Given the description of an element on the screen output the (x, y) to click on. 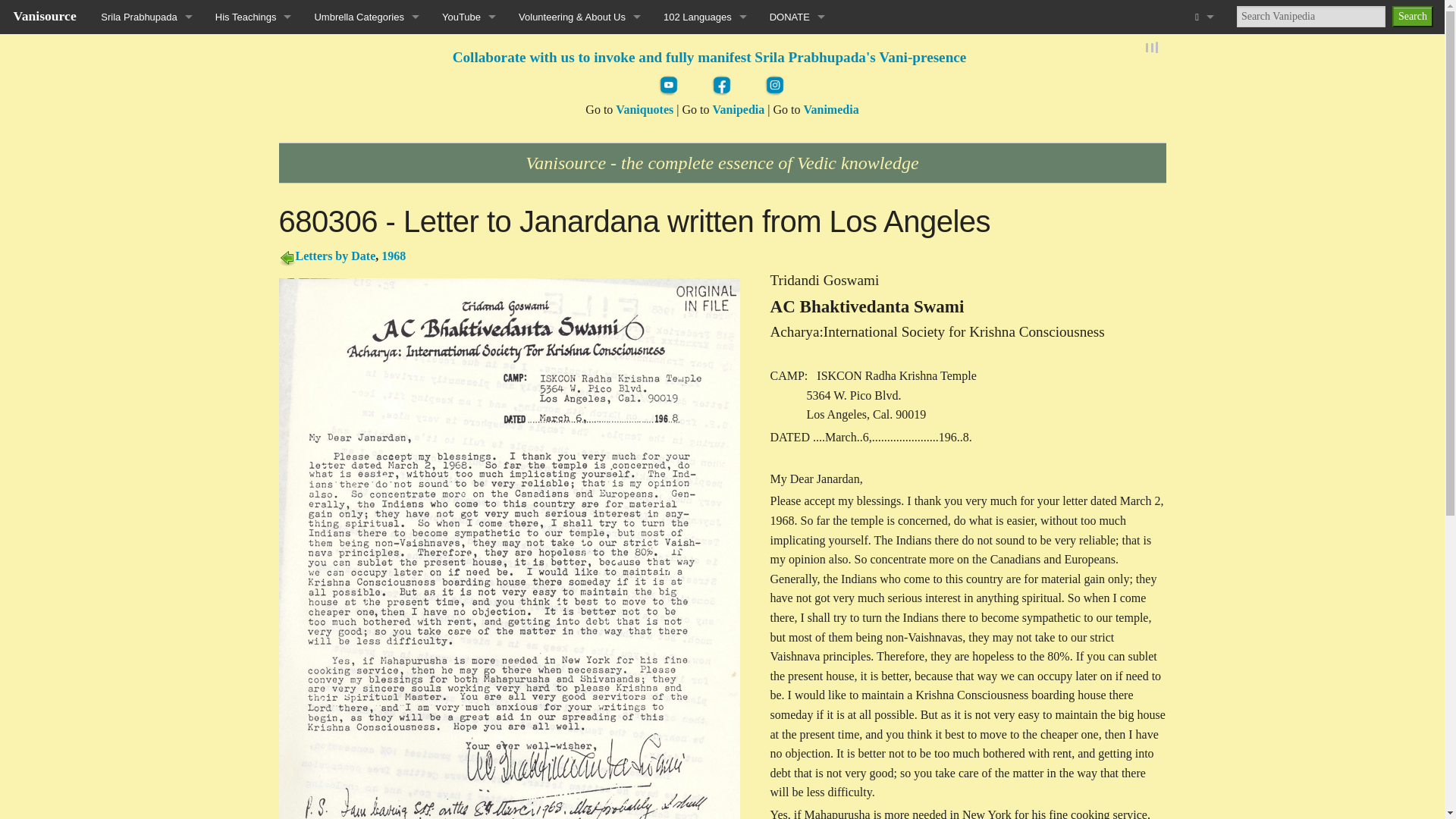
vanipedia:Main Page (737, 109)
Category:1968 - Letters (393, 255)
Search (1411, 16)
Category:Letters - by Date (335, 255)
vanimedia:Main Page (831, 109)
Vanisource (44, 15)
Srila Prabhupada (145, 17)
Category:Letters - by Date (287, 255)
vaniquotes:Main Page (643, 109)
